Given the description of an element on the screen output the (x, y) to click on. 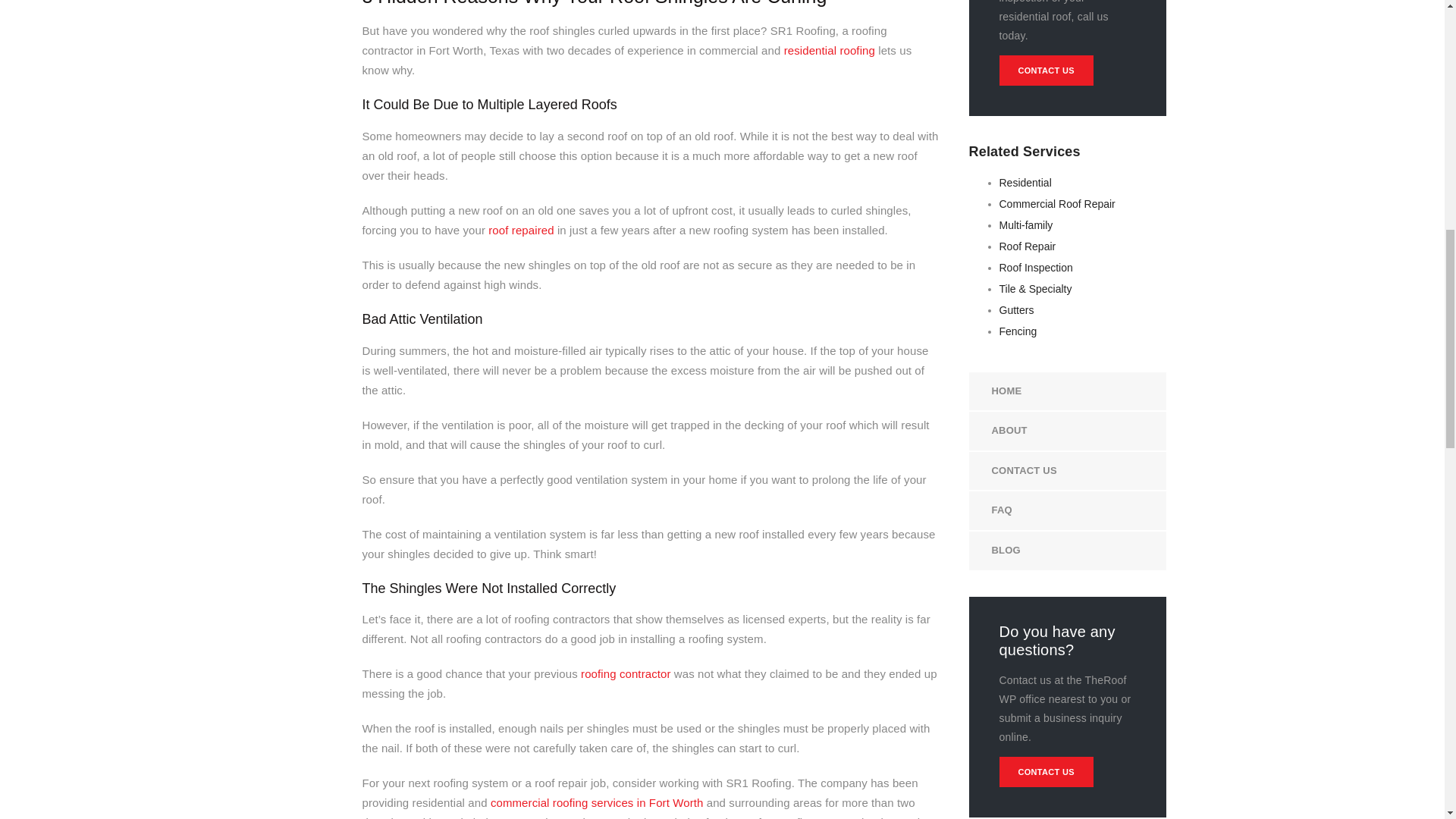
residential roofing (831, 50)
roofing contractor (625, 673)
roof repaired (520, 229)
commercial roofing services in Fort Worth (596, 802)
